Given the description of an element on the screen output the (x, y) to click on. 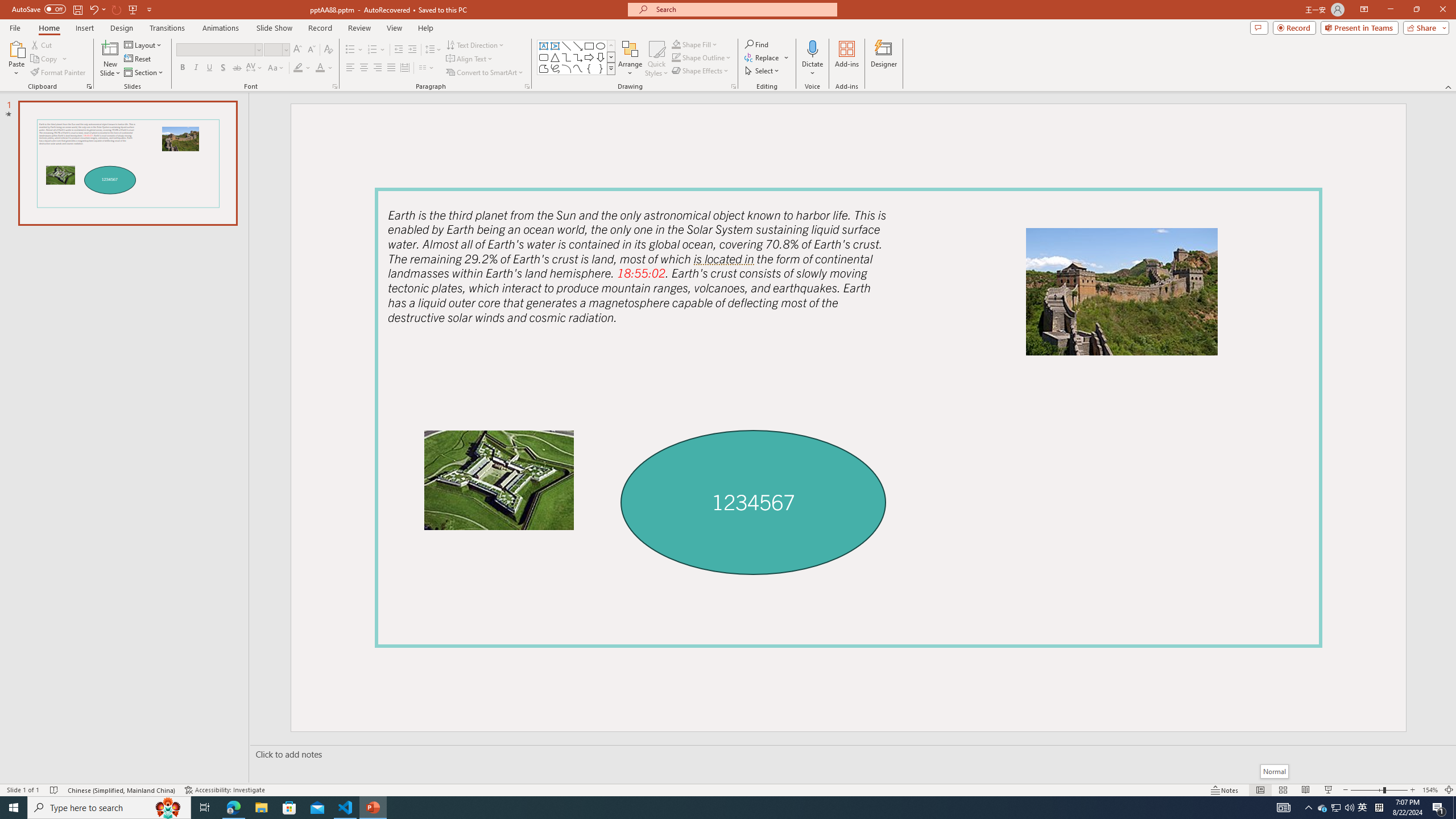
Increase Font Size (297, 49)
